Given the description of an element on the screen output the (x, y) to click on. 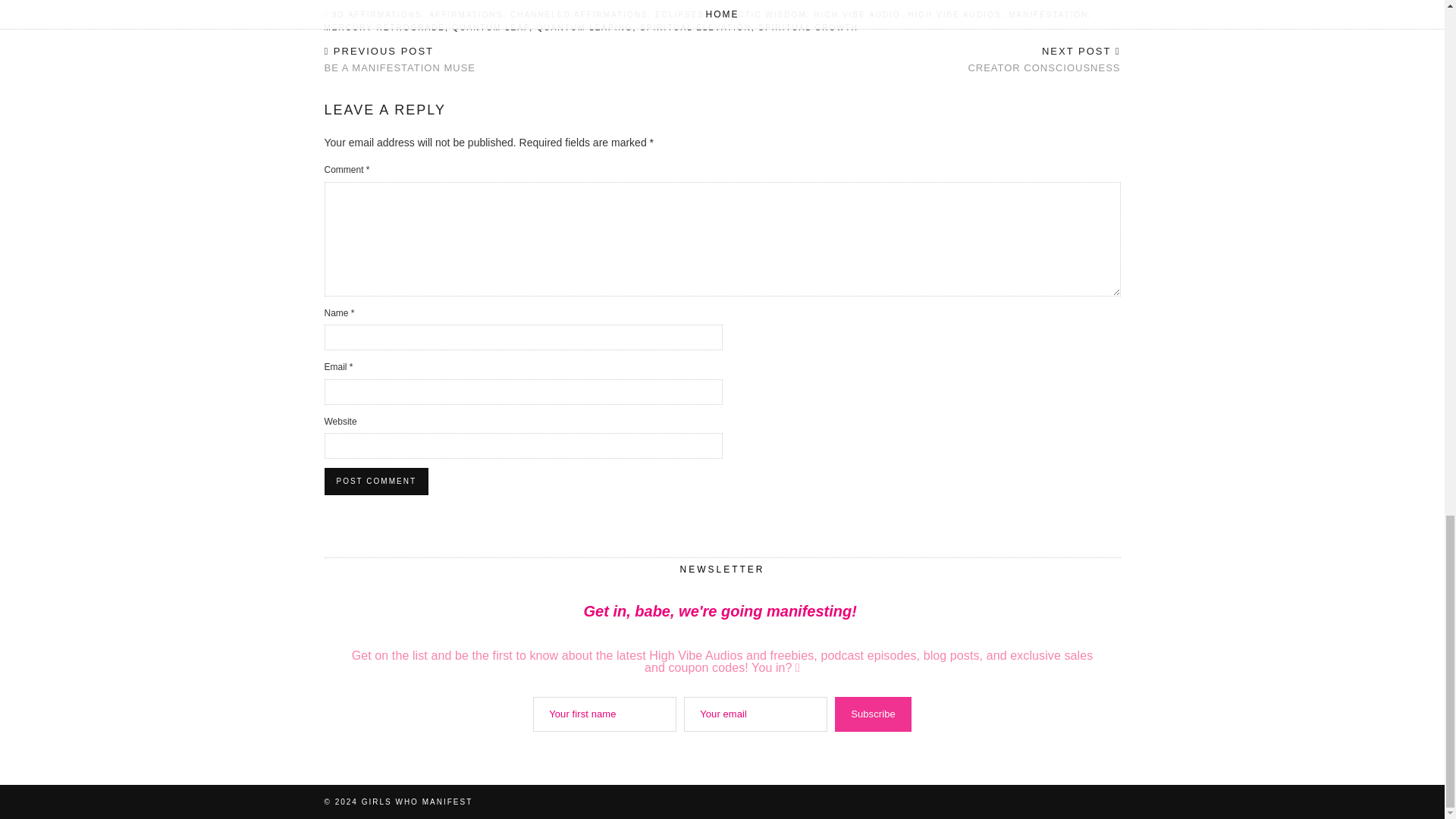
QUANTUM LEAPING (585, 27)
SPIRITUAL ELEVATION (695, 27)
HIGH VIBE AUDIO (856, 14)
ECLIPSES (679, 14)
GIRLS WHO MANIFEST (1043, 60)
Post Comment (417, 801)
Post Comment (376, 481)
Subscribe (376, 481)
CHANNELED AFFIRMATIONS (872, 714)
MANIFESTATION (579, 14)
MERCURY RETROGRADE (400, 60)
GALACTIC WISDOM (1049, 14)
9D AFFIRMATIONS (384, 27)
